Given the description of an element on the screen output the (x, y) to click on. 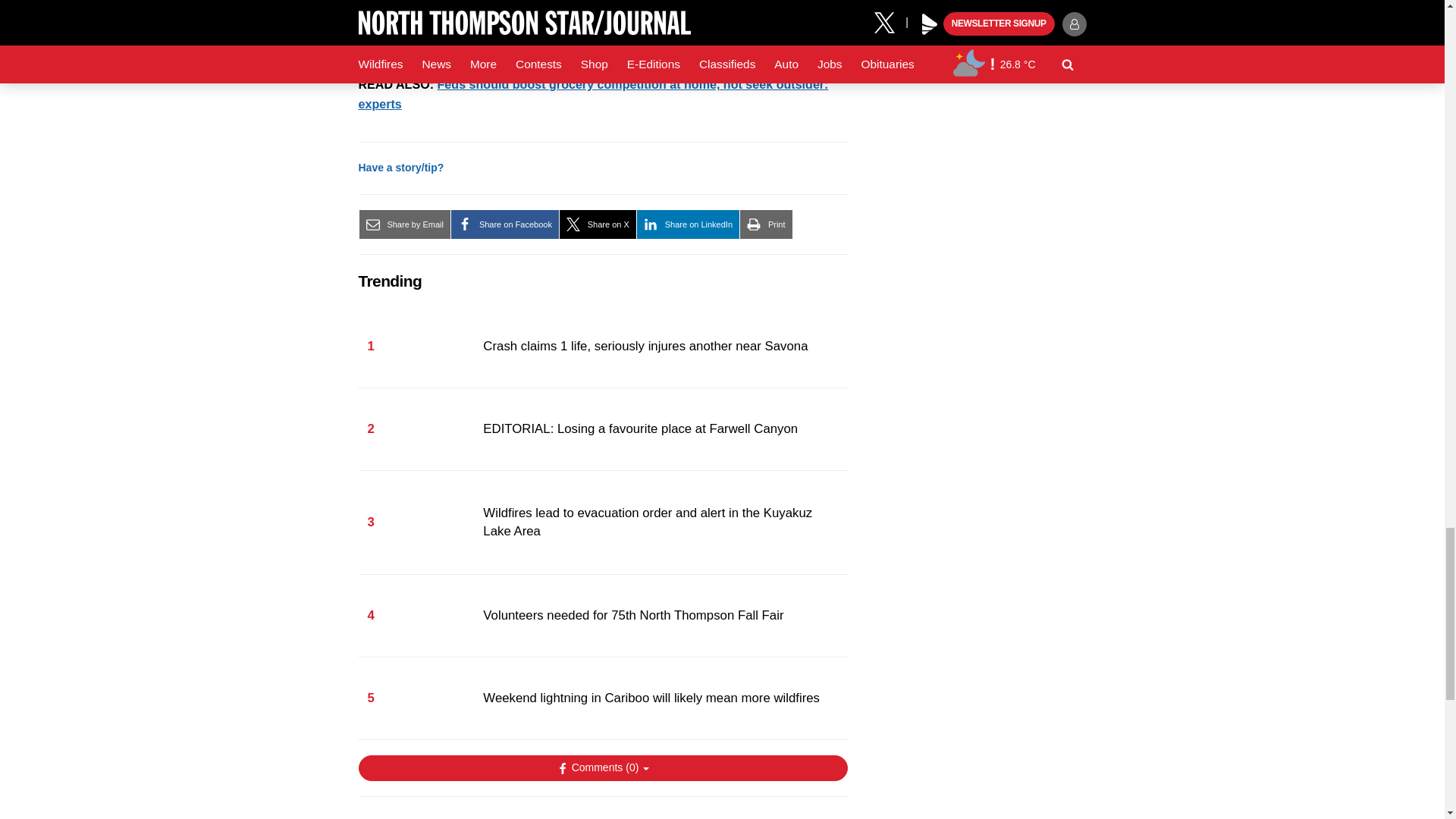
Show Comments (602, 768)
related story (593, 93)
related story (596, 42)
